Given the description of an element on the screen output the (x, y) to click on. 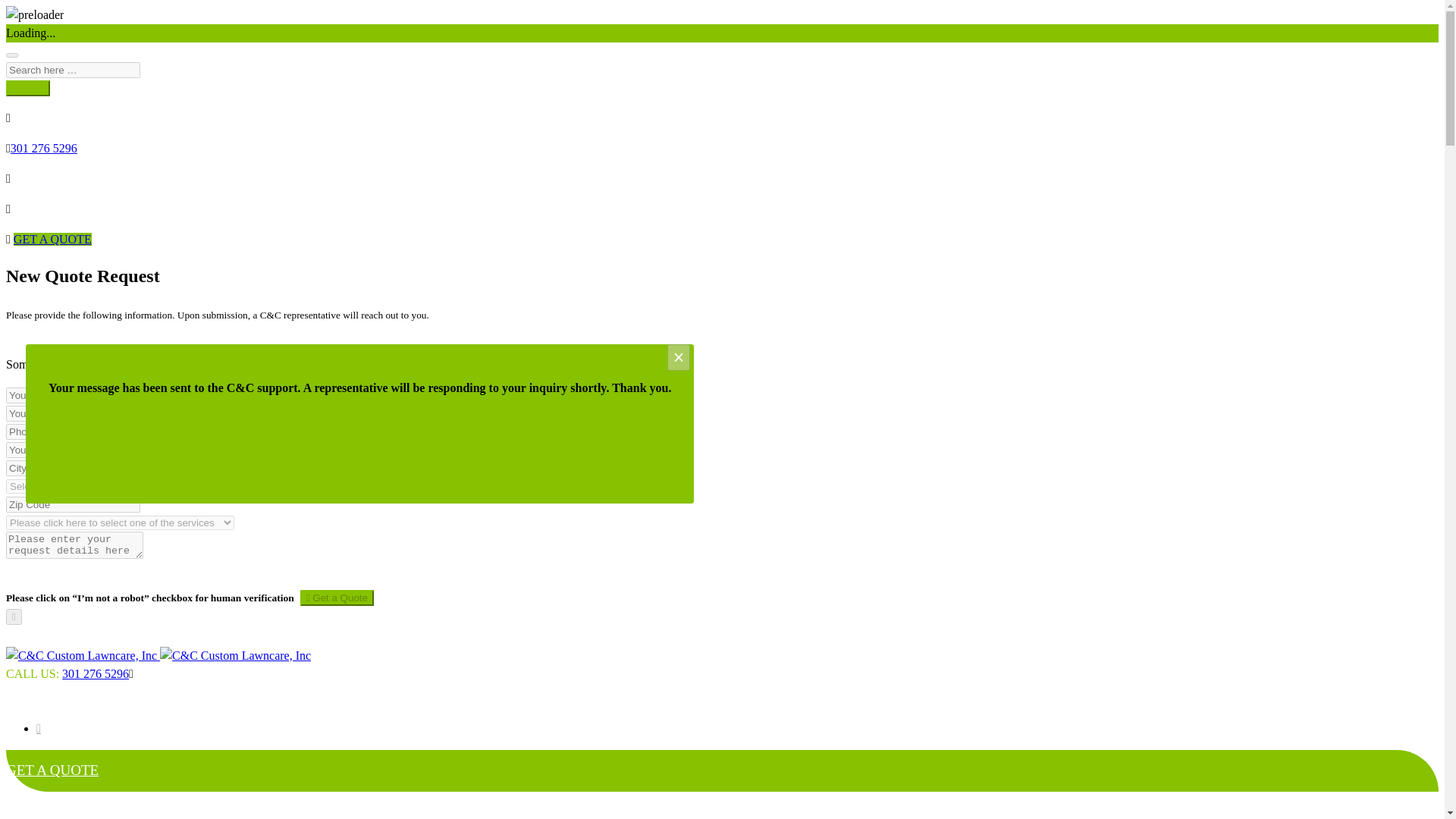
301 276 5296 (43, 147)
301 276 5296 (95, 673)
GET A QUOTE (52, 770)
Get a Quote (336, 597)
GET A QUOTE (52, 238)
Search (27, 88)
